Given the description of an element on the screen output the (x, y) to click on. 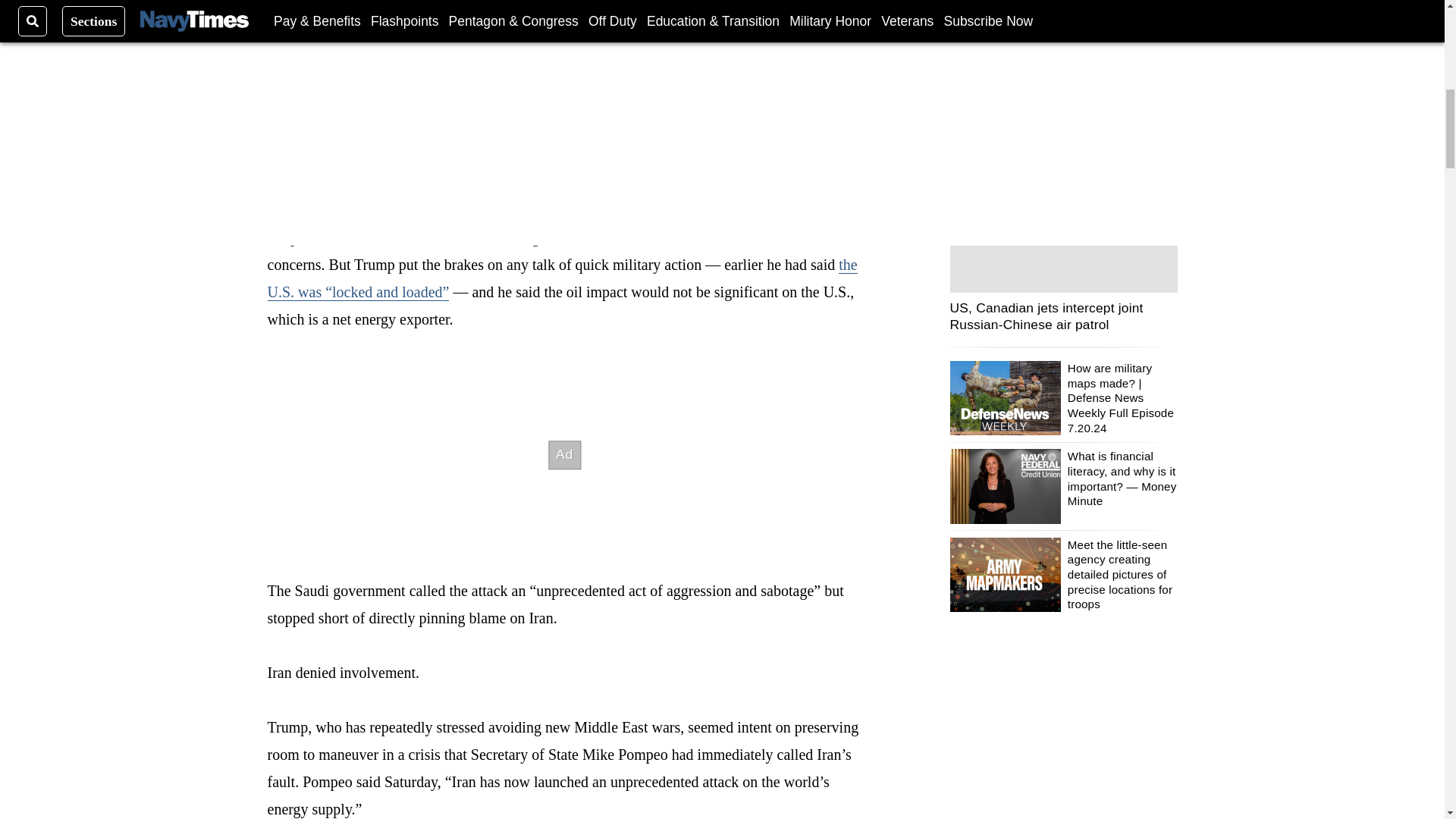
3rd party ad content (563, 454)
